Given the description of an element on the screen output the (x, y) to click on. 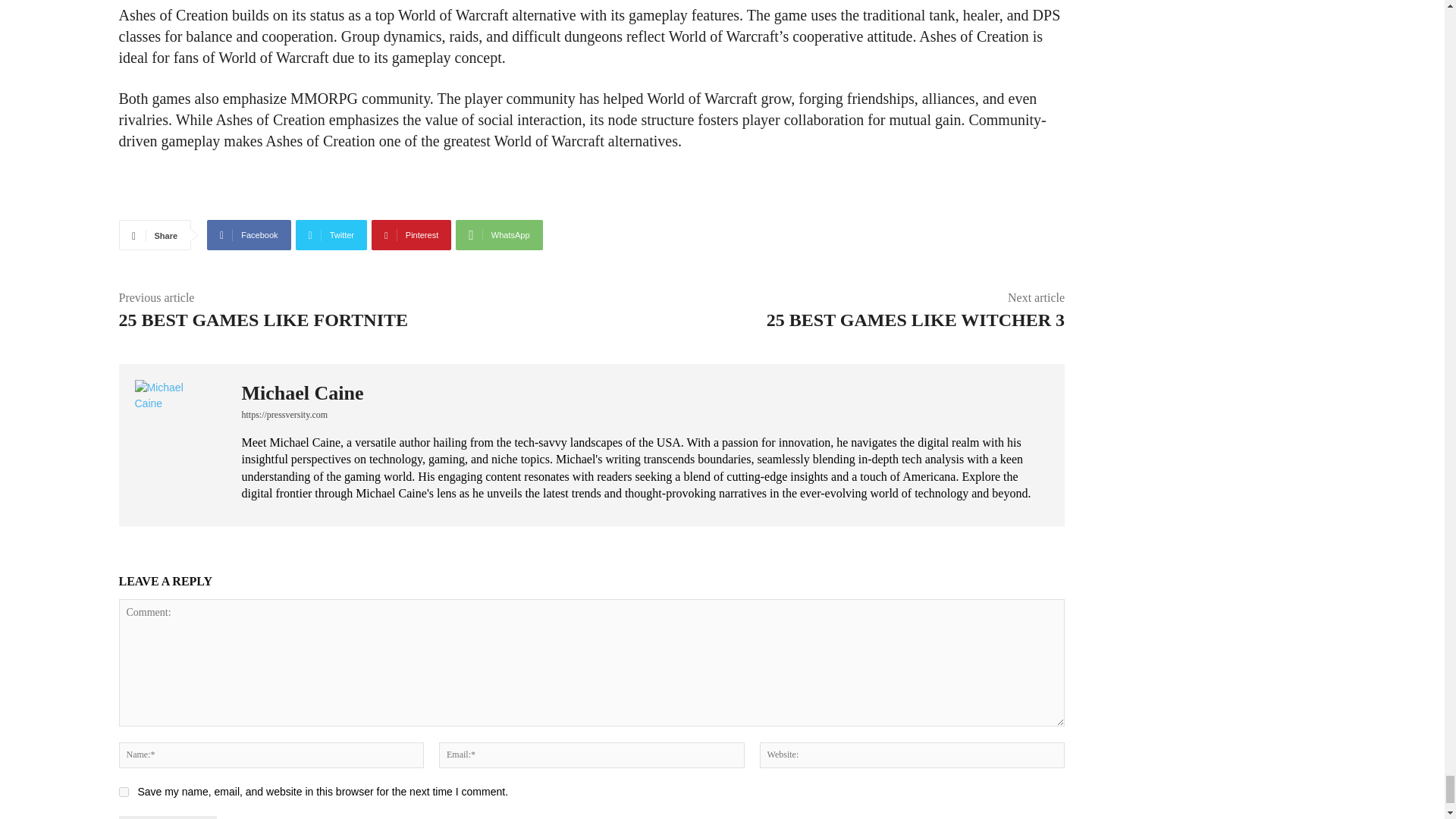
Post Comment (166, 817)
yes (122, 791)
